Given the description of an element on the screen output the (x, y) to click on. 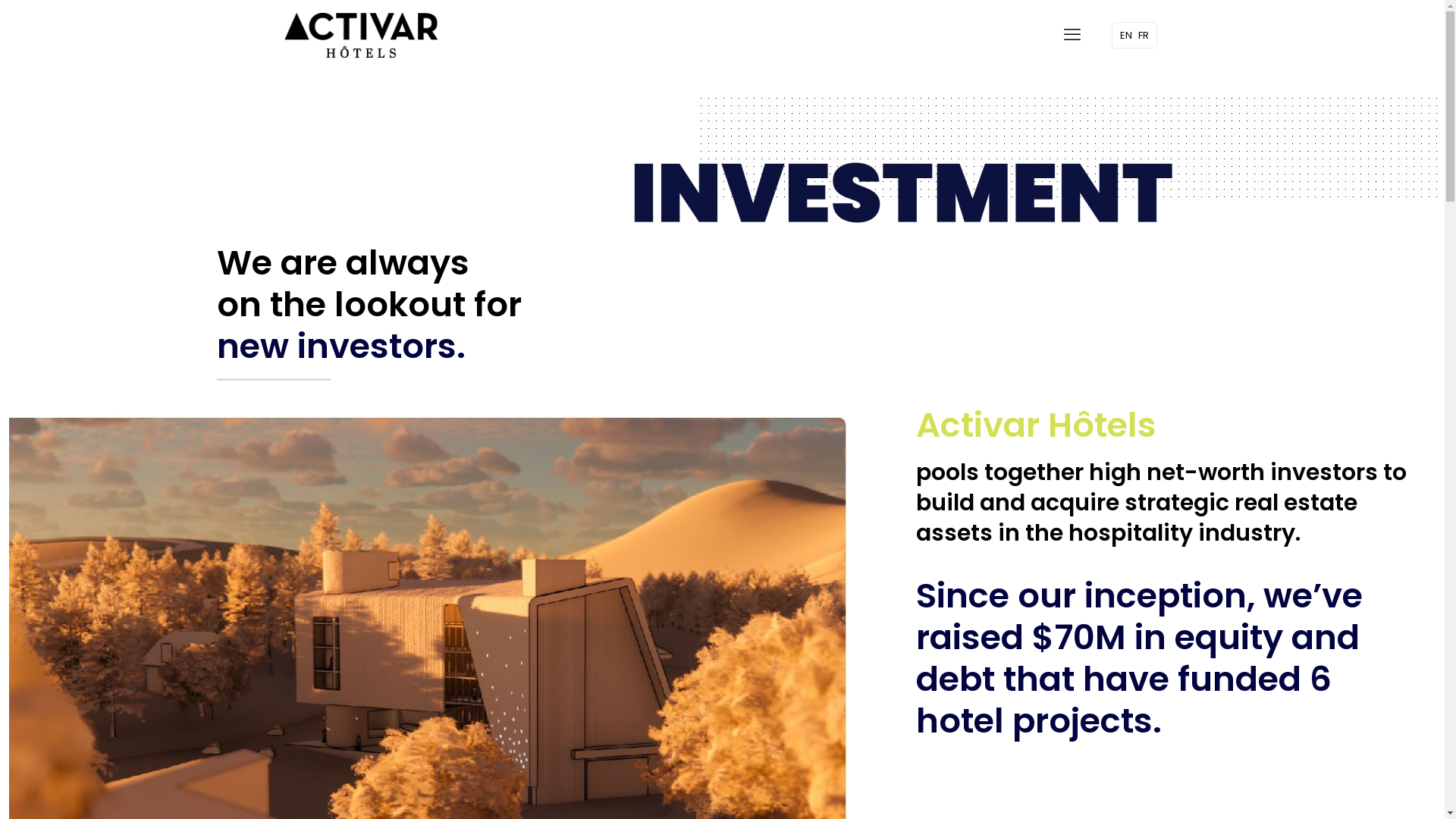
FR Element type: text (1142, 34)
EN Element type: text (1125, 34)
Activar Hotels Element type: hover (359, 34)
Mbdezign Element type: text (453, 783)
